Given the description of an element on the screen output the (x, y) to click on. 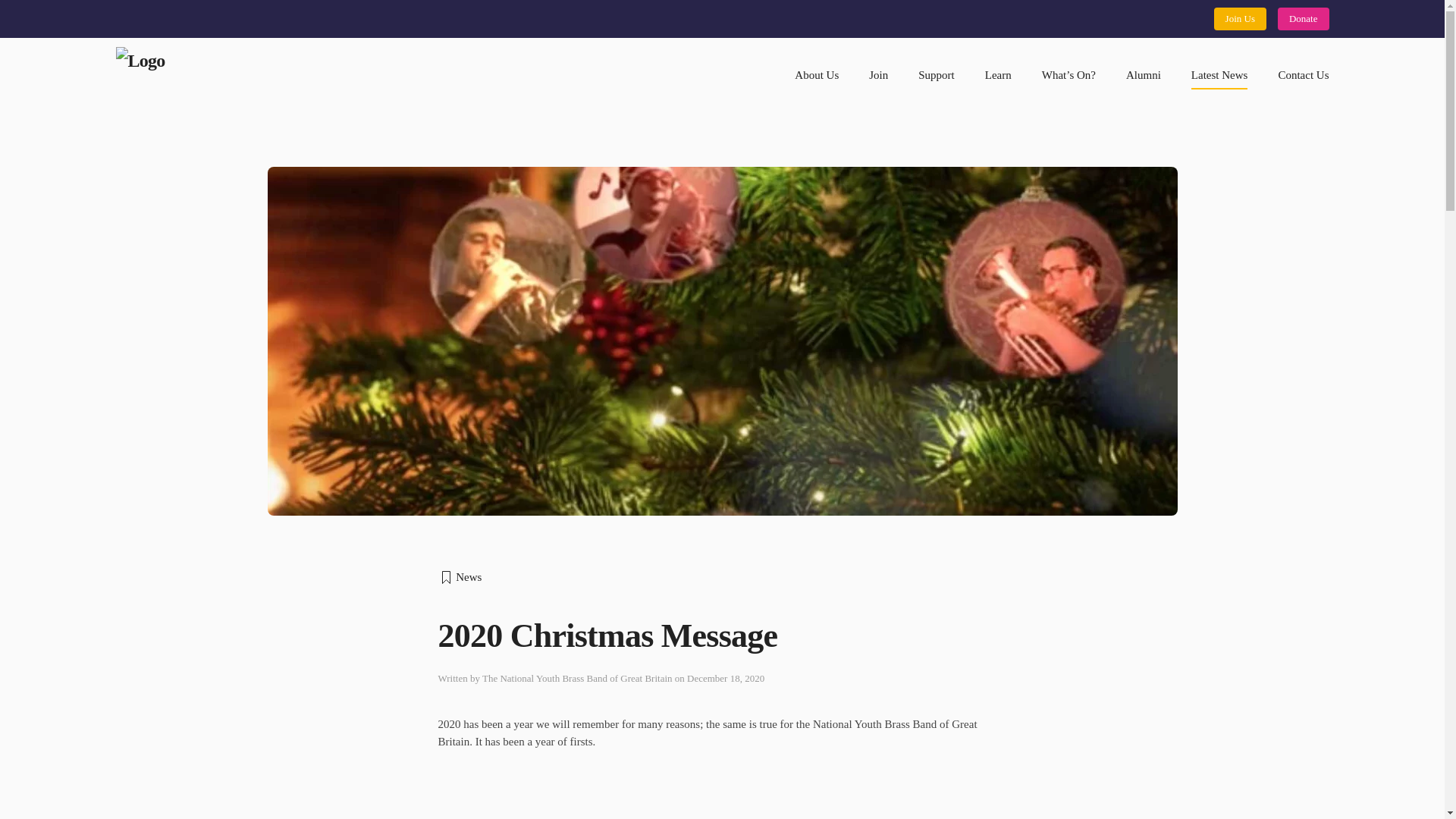
Donate (1303, 18)
News (722, 577)
Join Us (1240, 18)
2020 NYBBGB Christmas Card (627, 792)
2020 Christmas Message (722, 636)
